Given the description of an element on the screen output the (x, y) to click on. 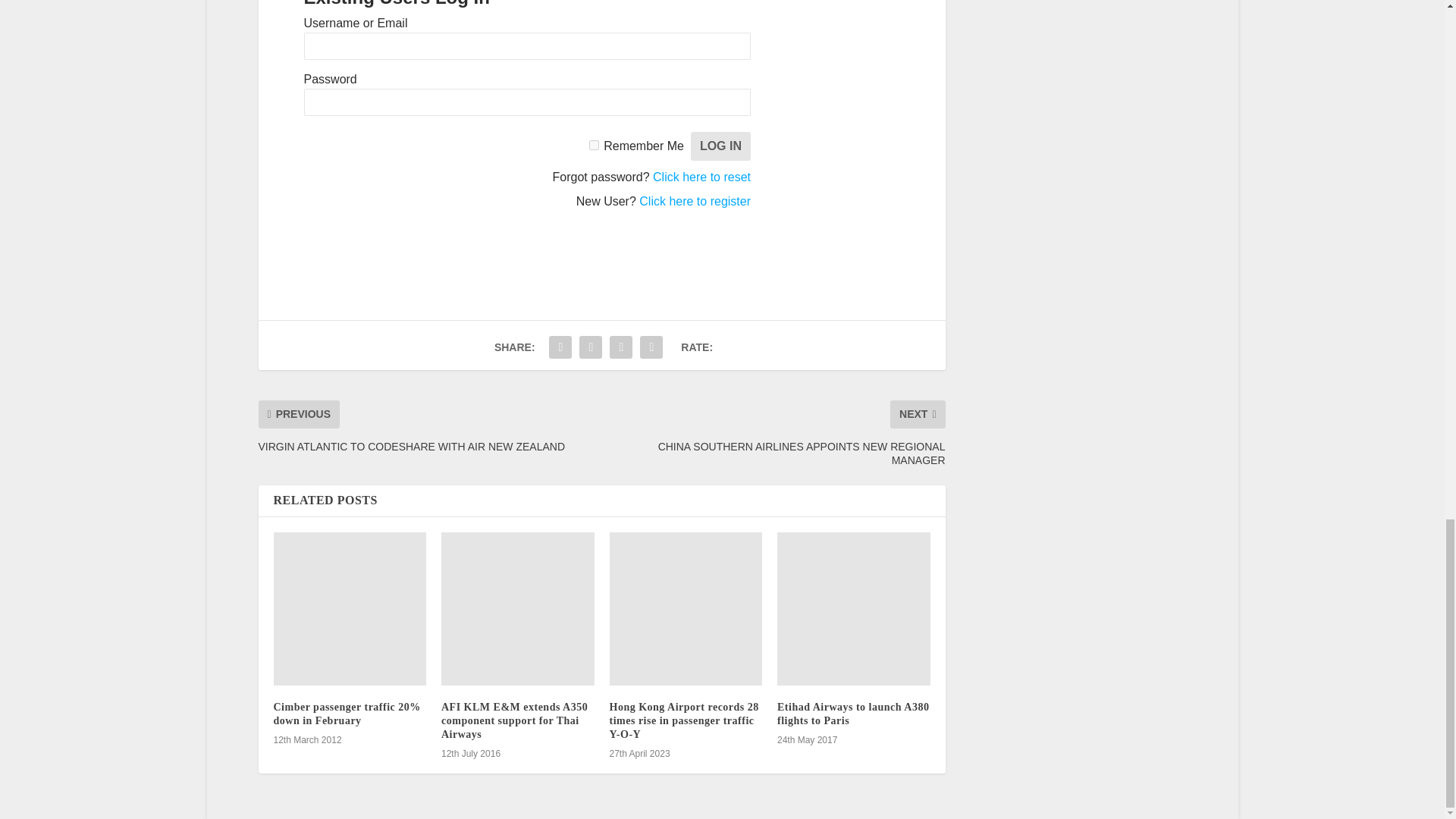
Log In (720, 145)
Etihad Airways to launch A380 flights to Paris (853, 608)
forever (593, 144)
